Given the description of an element on the screen output the (x, y) to click on. 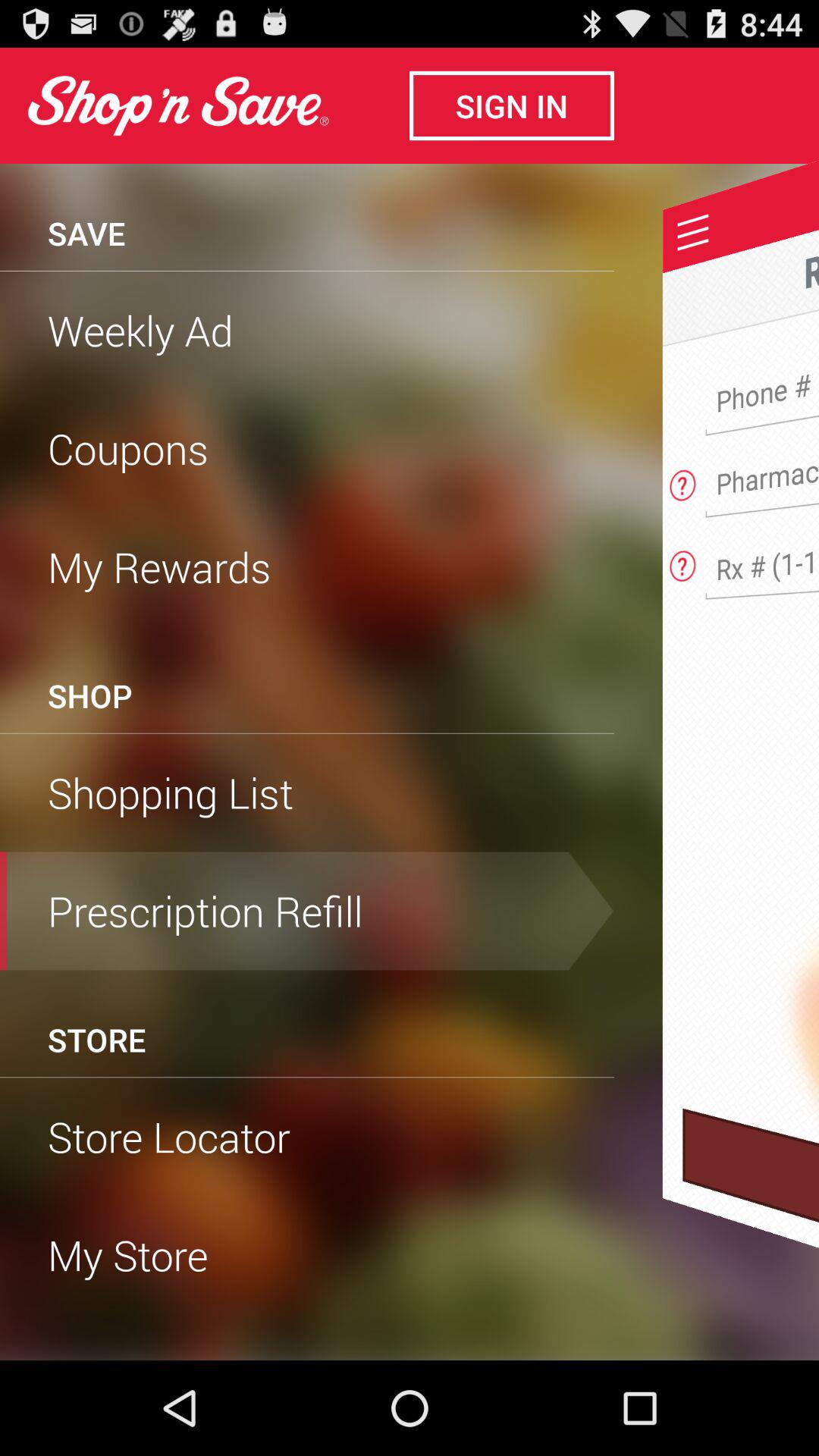
open menu (692, 231)
